Given the description of an element on the screen output the (x, y) to click on. 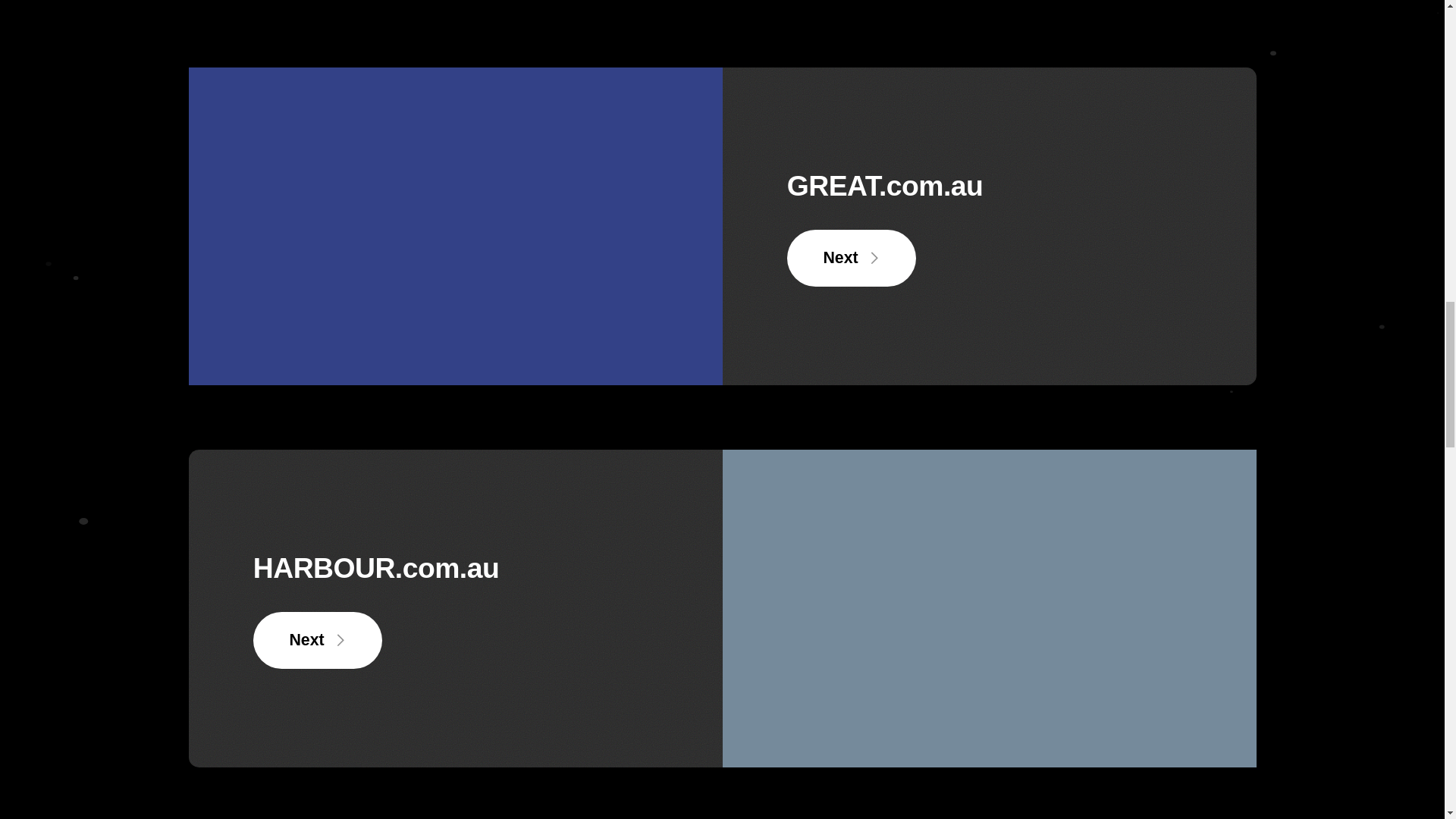
Next (317, 640)
Next (852, 258)
